Given the description of an element on the screen output the (x, y) to click on. 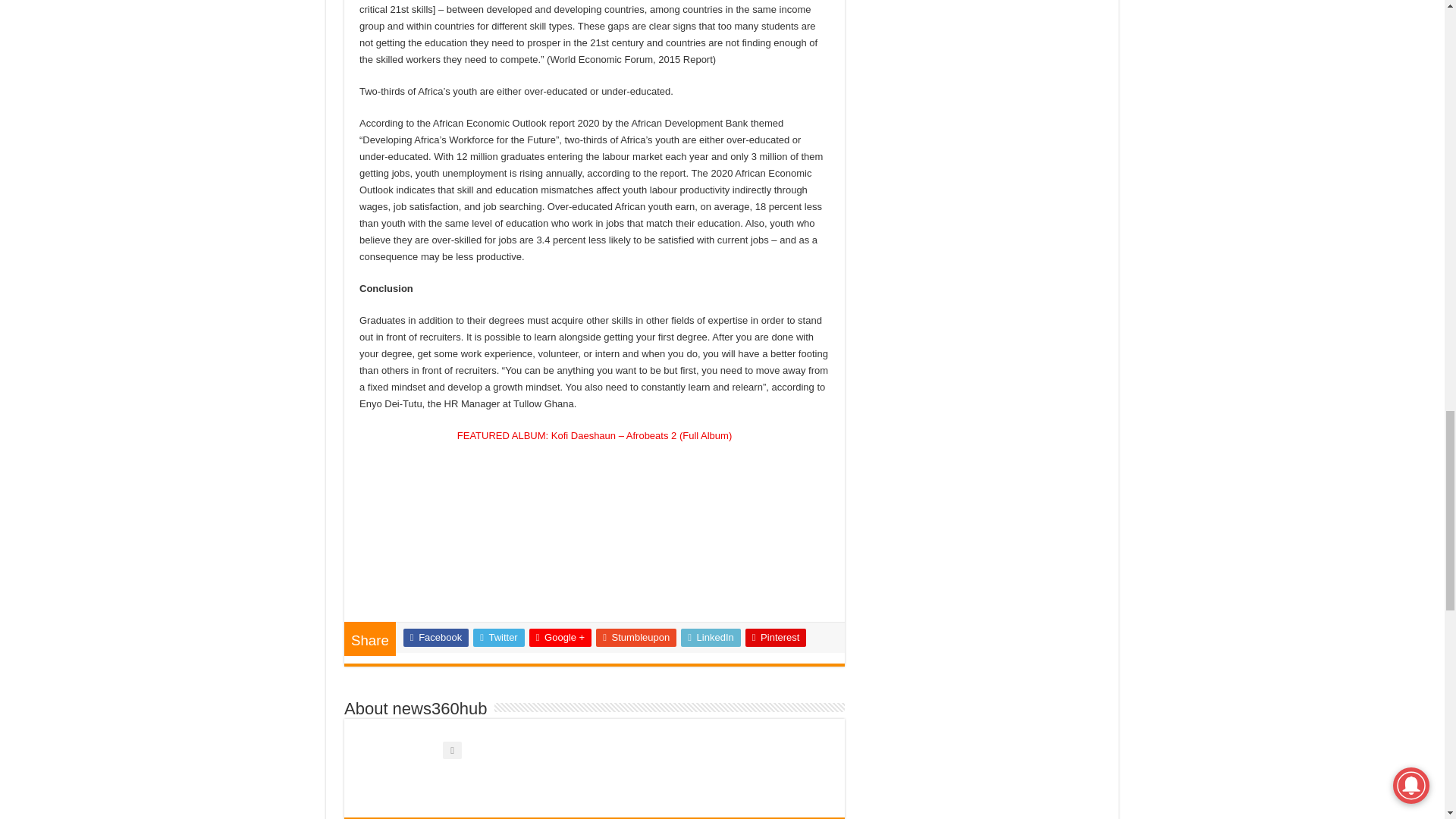
Twitter (498, 637)
Stumbleupon (636, 637)
Pinterest (775, 637)
Facebook (435, 637)
LinkedIn (711, 637)
